Given the description of an element on the screen output the (x, y) to click on. 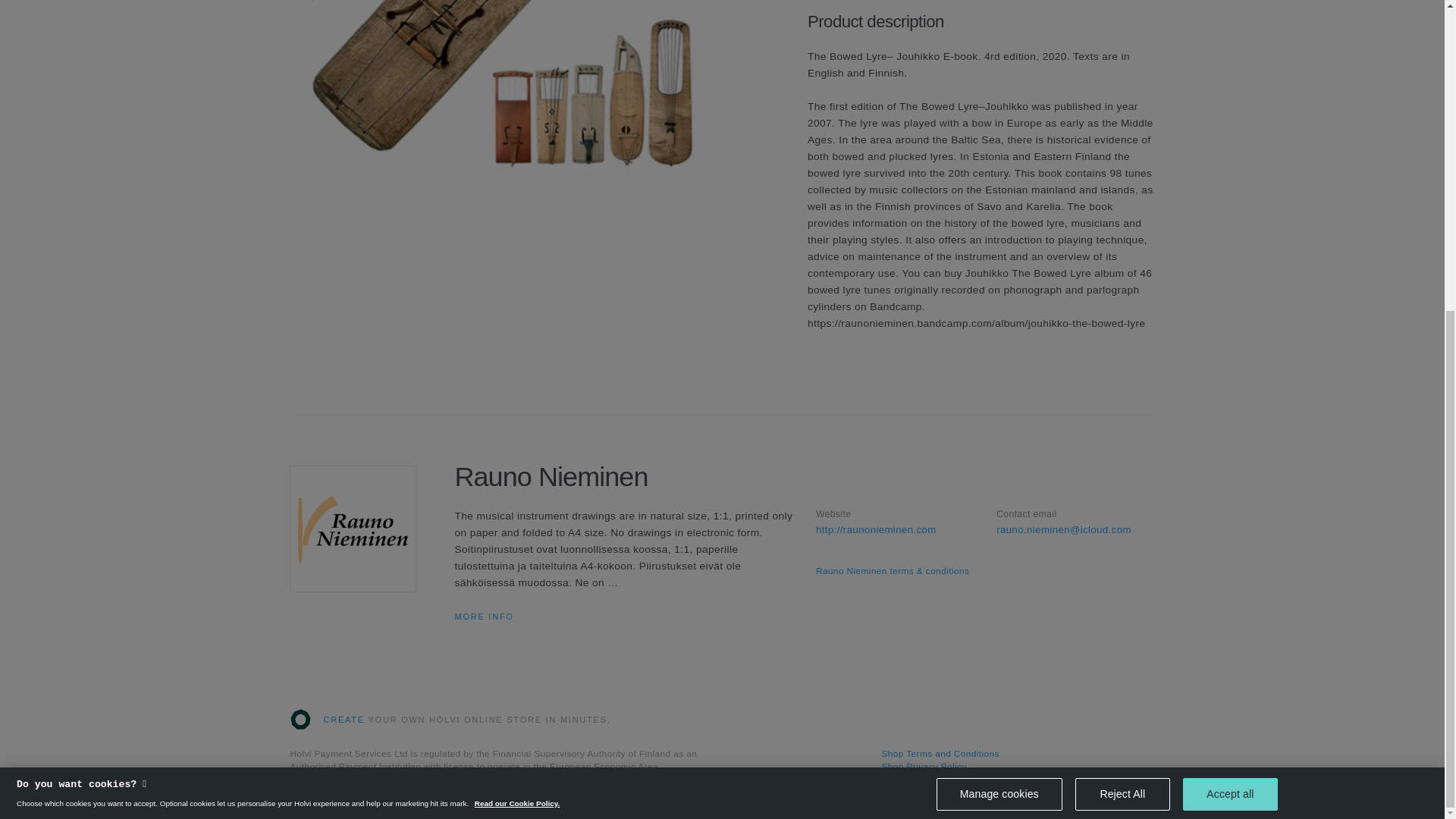
CREATE YOUR OWN HOLVI ONLINE STORE IN MINUTES. (449, 719)
Manage cookies (999, 303)
Reject All (1122, 301)
Shop Terms and Conditions (939, 753)
Read our Cookie Policy. (516, 313)
Shop Privacy Policy (923, 766)
Accept all (1230, 301)
